Given the description of an element on the screen output the (x, y) to click on. 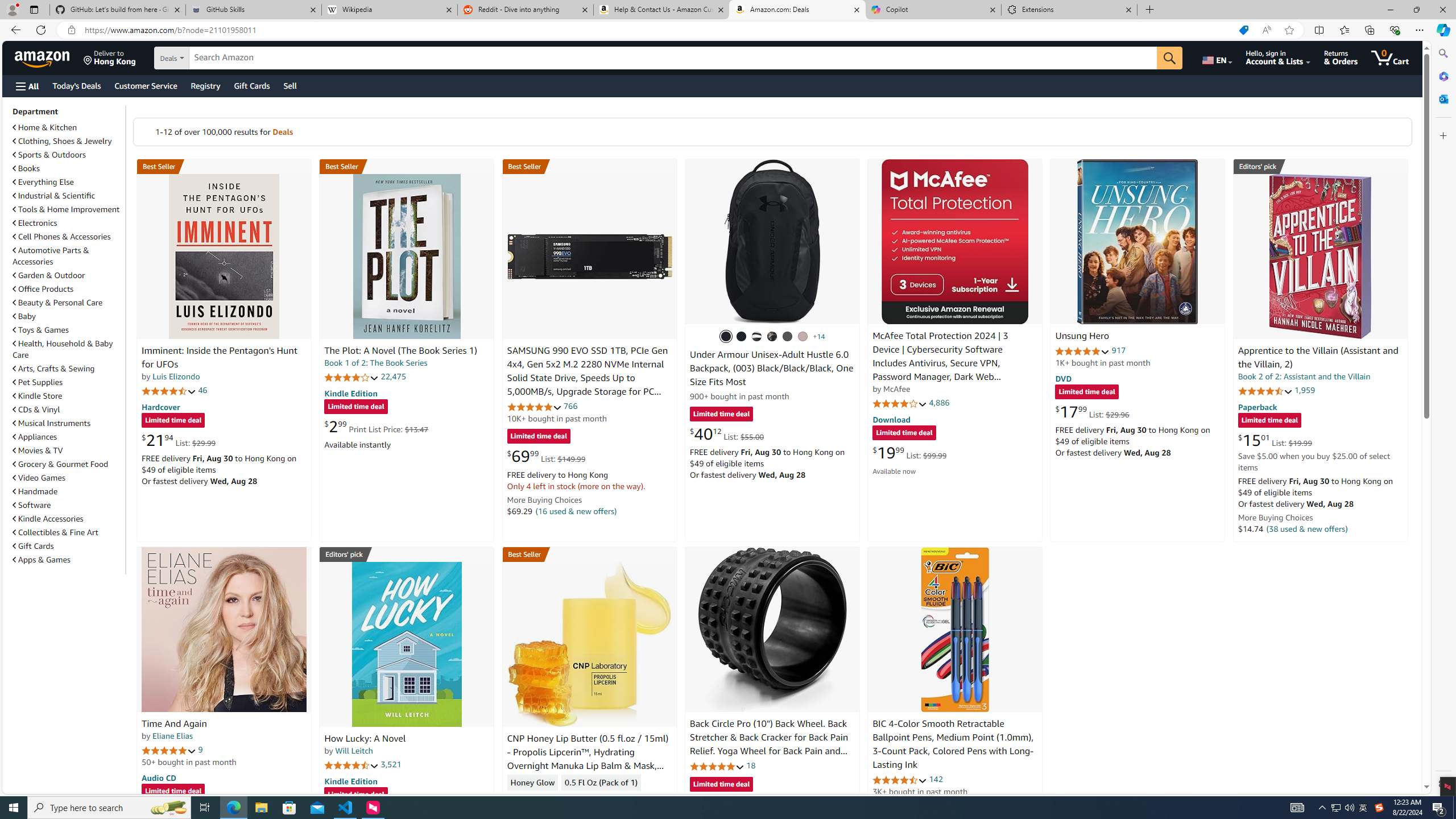
Kindle Store (67, 395)
CDs & Vinyl (67, 409)
Imminent: Inside the Pentagon's Hunt for UFOs (223, 256)
4.9 out of 5 stars (1082, 351)
(002) Black / Black / White (756, 336)
Gift Cards (67, 546)
Copilot (933, 9)
Movies & TV (67, 450)
Hello, sign in Account & Lists (1278, 57)
Health, Household & Baby Care (63, 349)
The Plot: A Novel (The Book Series 1) (400, 351)
